Given the description of an element on the screen output the (x, y) to click on. 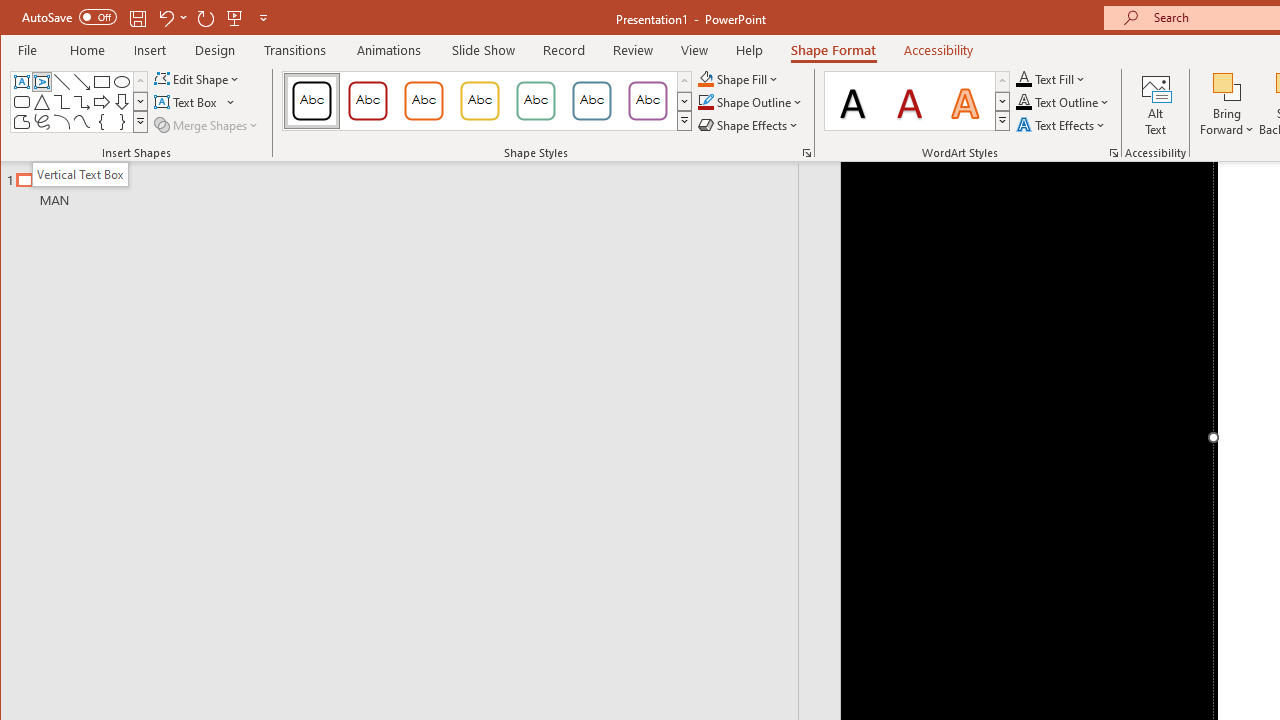
Fill: Black, Text color 1; Shadow (853, 100)
Colored Outline - Green, Accent 4 (536, 100)
Colored Outline - Black, Dark 1 (312, 100)
Colored Outline - Purple, Accent 6 (647, 100)
